Given the description of an element on the screen output the (x, y) to click on. 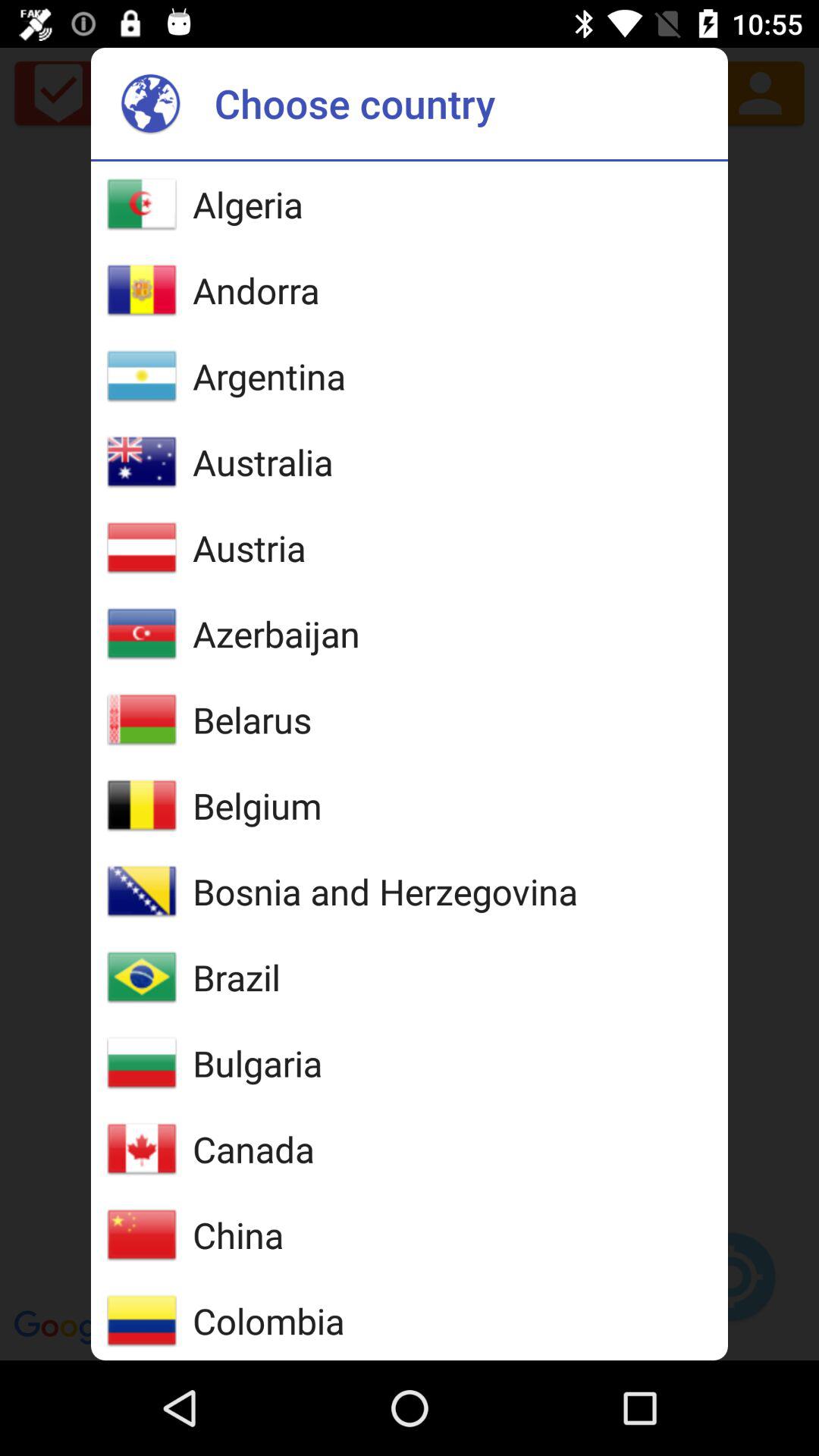
jump to the canada icon (253, 1148)
